Given the description of an element on the screen output the (x, y) to click on. 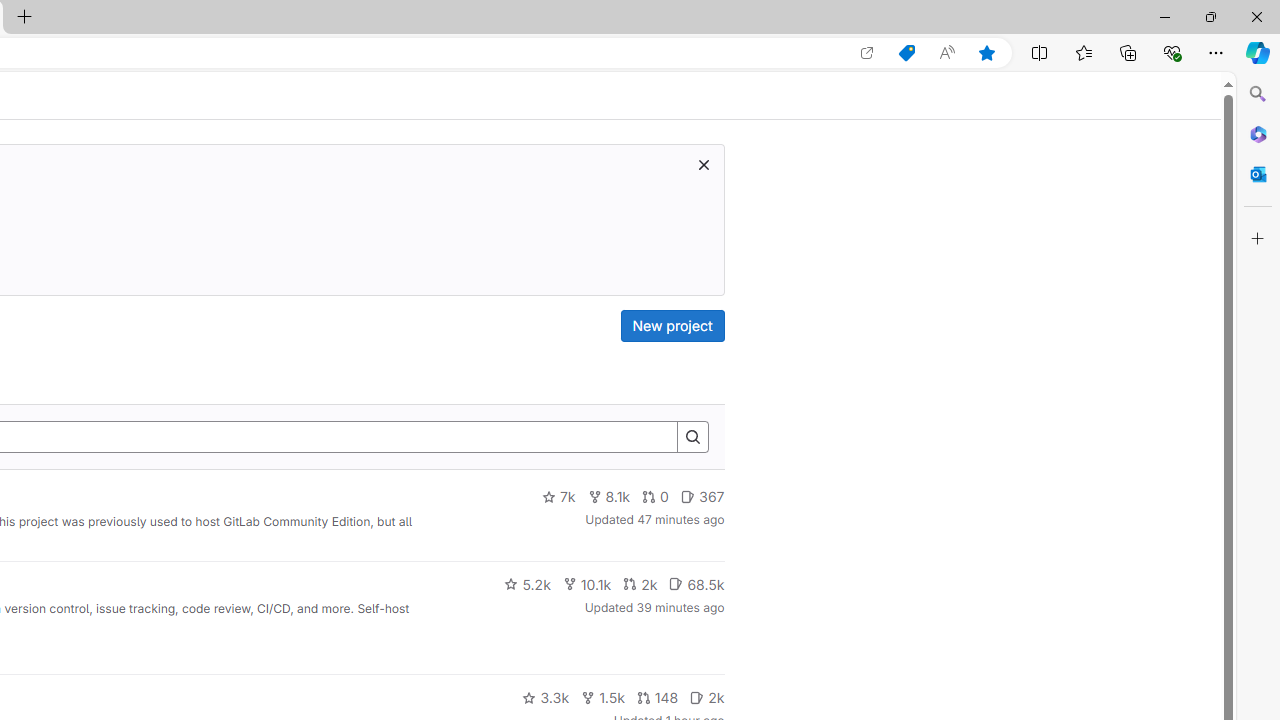
Class: s14 gl-mr-2 (697, 696)
0 (655, 497)
